Given the description of an element on the screen output the (x, y) to click on. 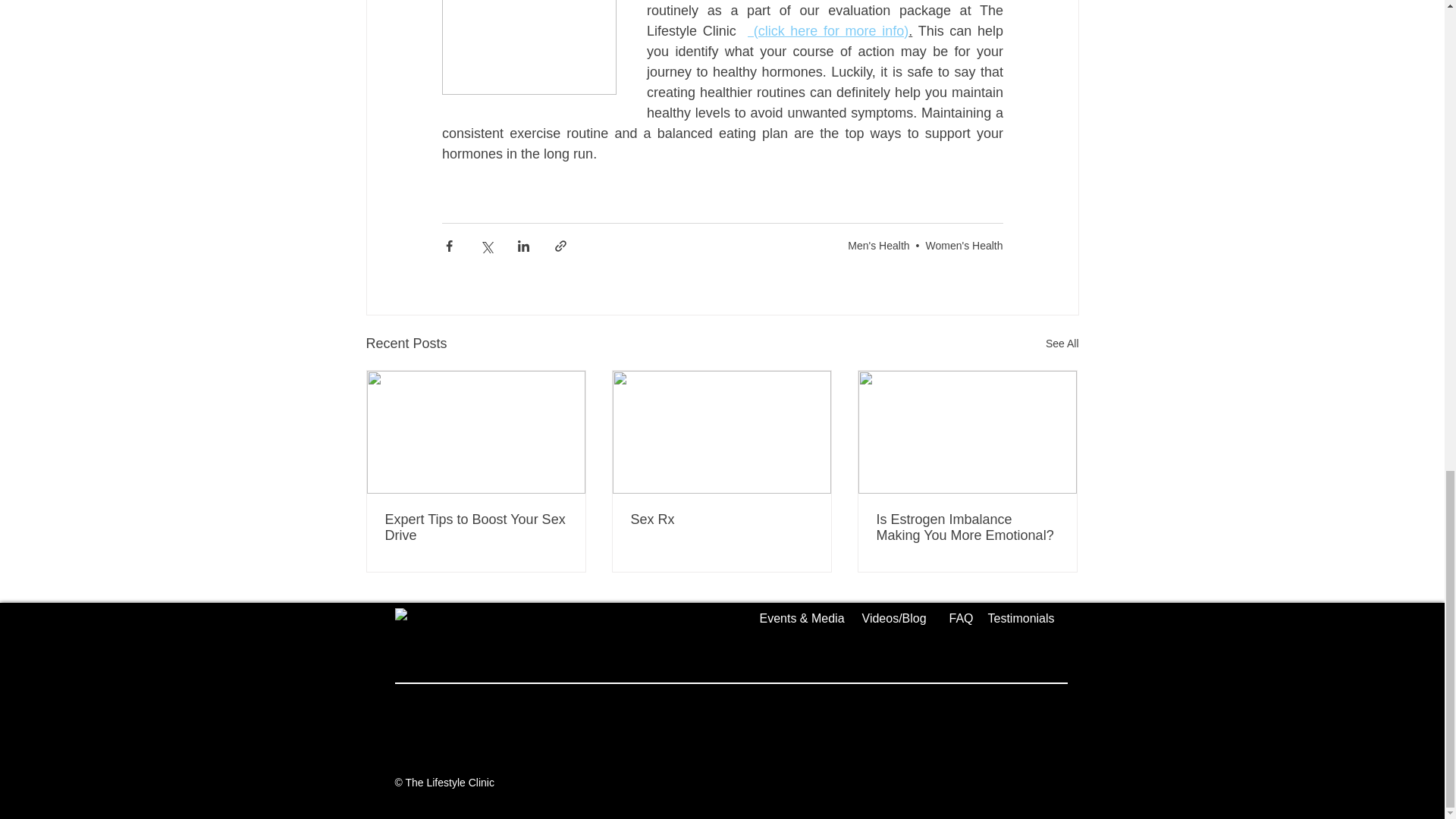
Expert Tips to Boost Your Sex Drive (476, 527)
Testimonials (1020, 617)
Men's Health (877, 245)
Is Estrogen Imbalance Making You More Emotional? (967, 527)
See All (1061, 343)
Sex Rx (721, 519)
Women's Health (963, 245)
FAQ (960, 617)
